Given the description of an element on the screen output the (x, y) to click on. 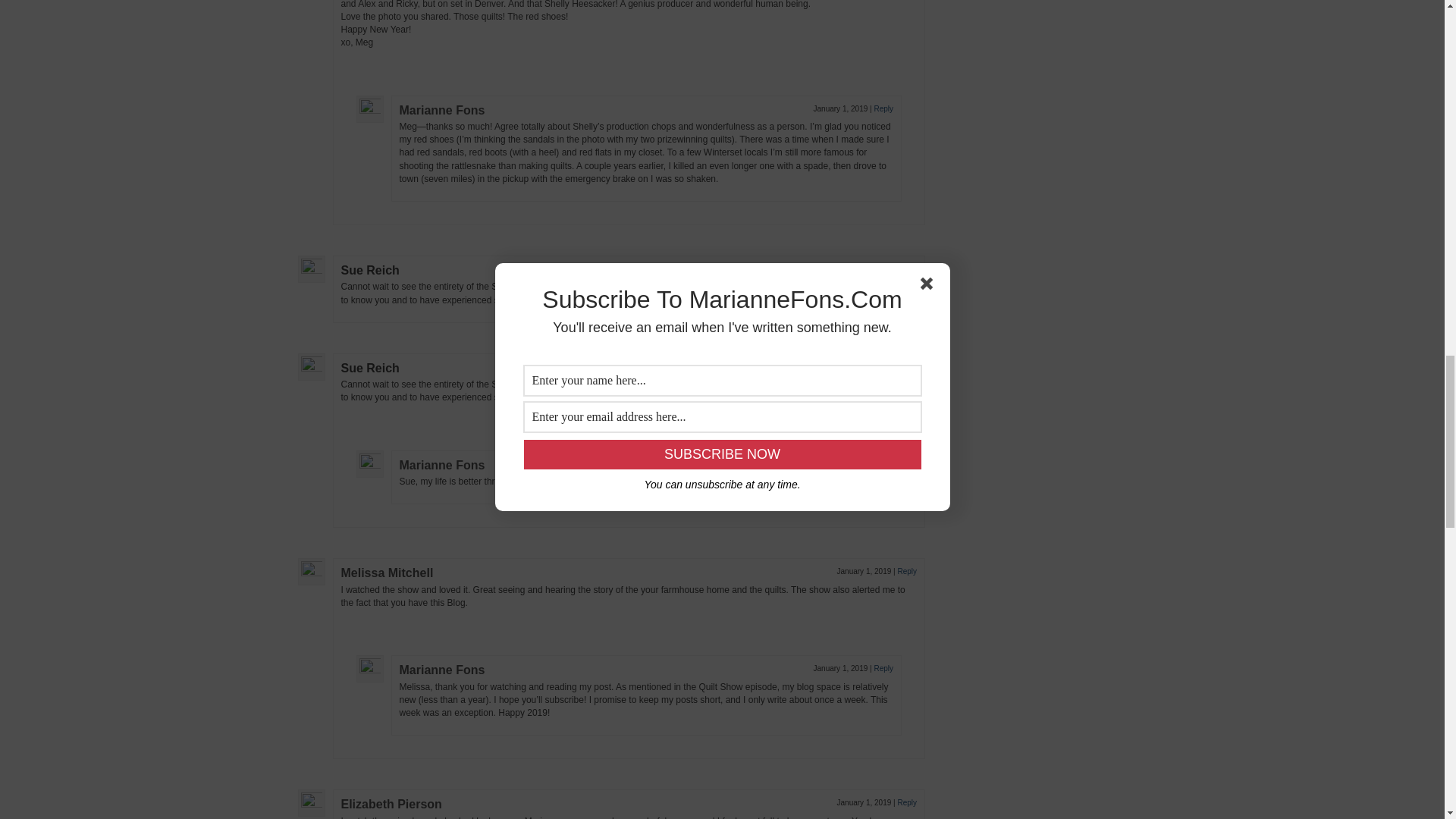
Sue Reich (369, 269)
Sue Reich (369, 367)
Reply (883, 108)
Reply (906, 268)
